Given the description of an element on the screen output the (x, y) to click on. 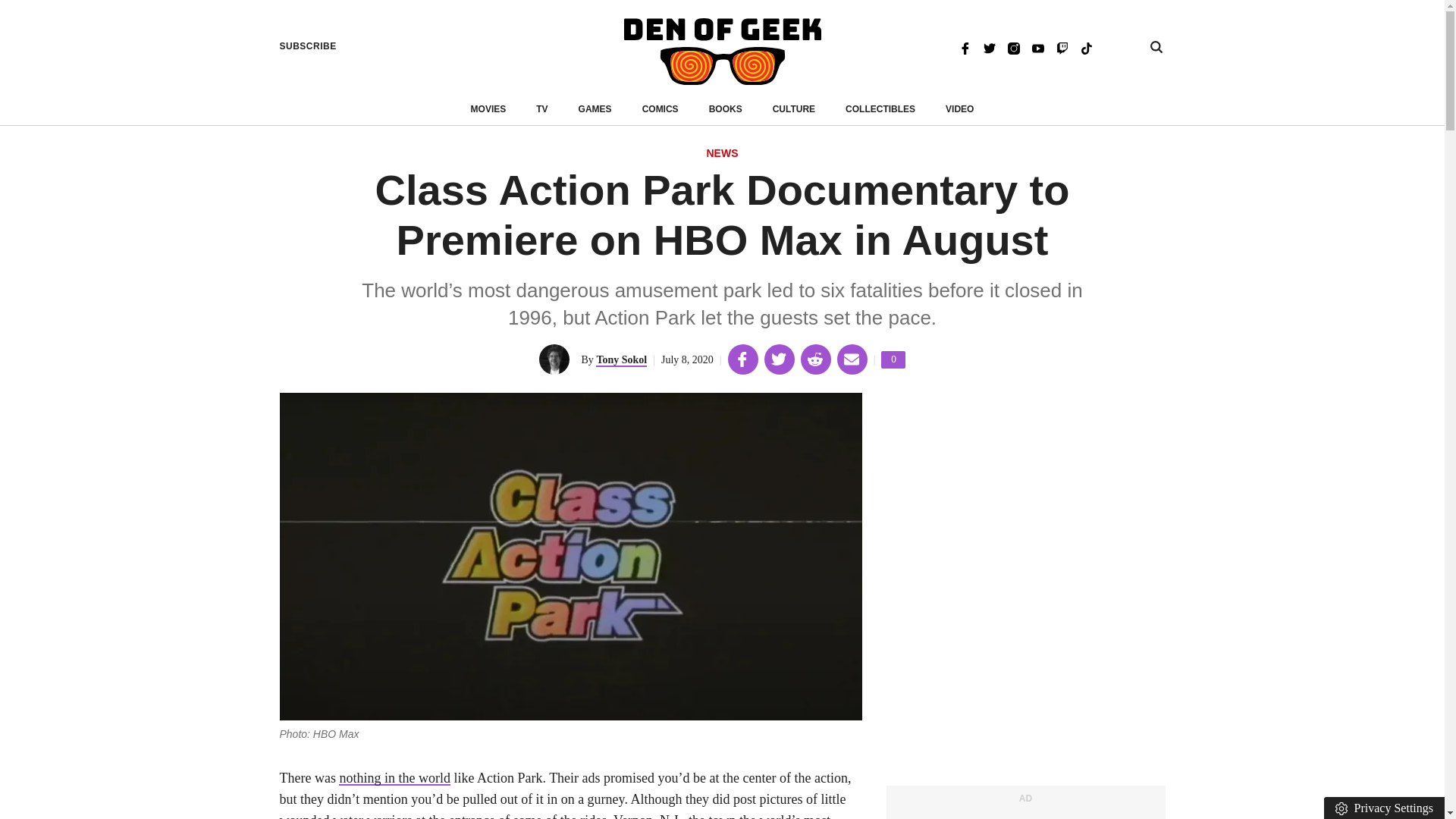
COLLECTIBLES (880, 109)
Instagram (1013, 46)
Twitch (1061, 46)
nothing in the world (394, 777)
NEWS (722, 153)
BOOKS (892, 359)
SUBSCRIBE (725, 109)
Den of Geek (307, 46)
Twitter (722, 52)
GAMES (988, 46)
VIDEO (594, 109)
CULTURE (959, 109)
Tony Sokol (794, 109)
MOVIES (620, 359)
